Given the description of an element on the screen output the (x, y) to click on. 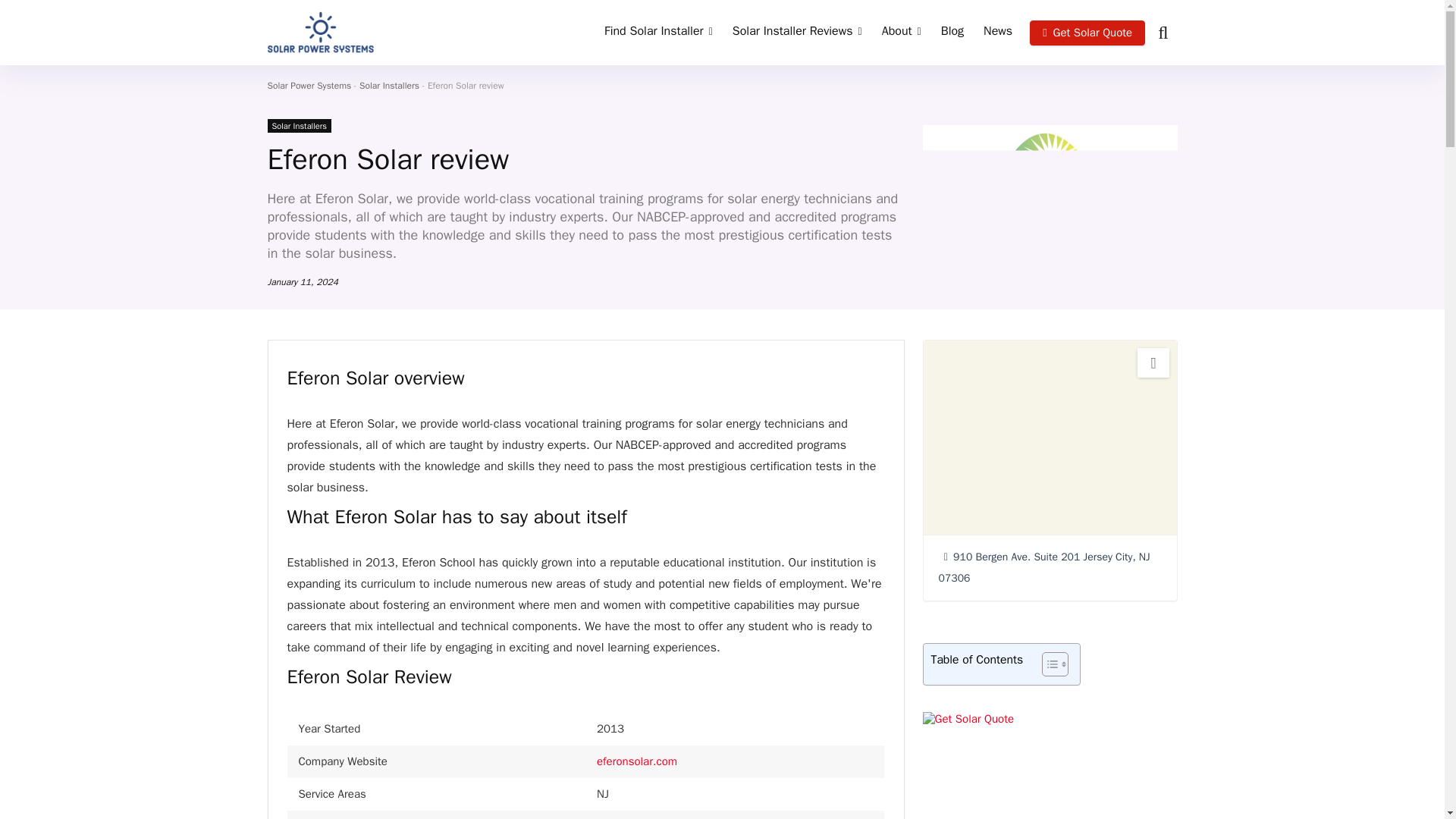
Find Solar Installer (658, 32)
Solar Installer Reviews (797, 32)
View all posts in Solar Installers (298, 125)
News (998, 32)
About (901, 32)
Blog (952, 32)
